Given the description of an element on the screen output the (x, y) to click on. 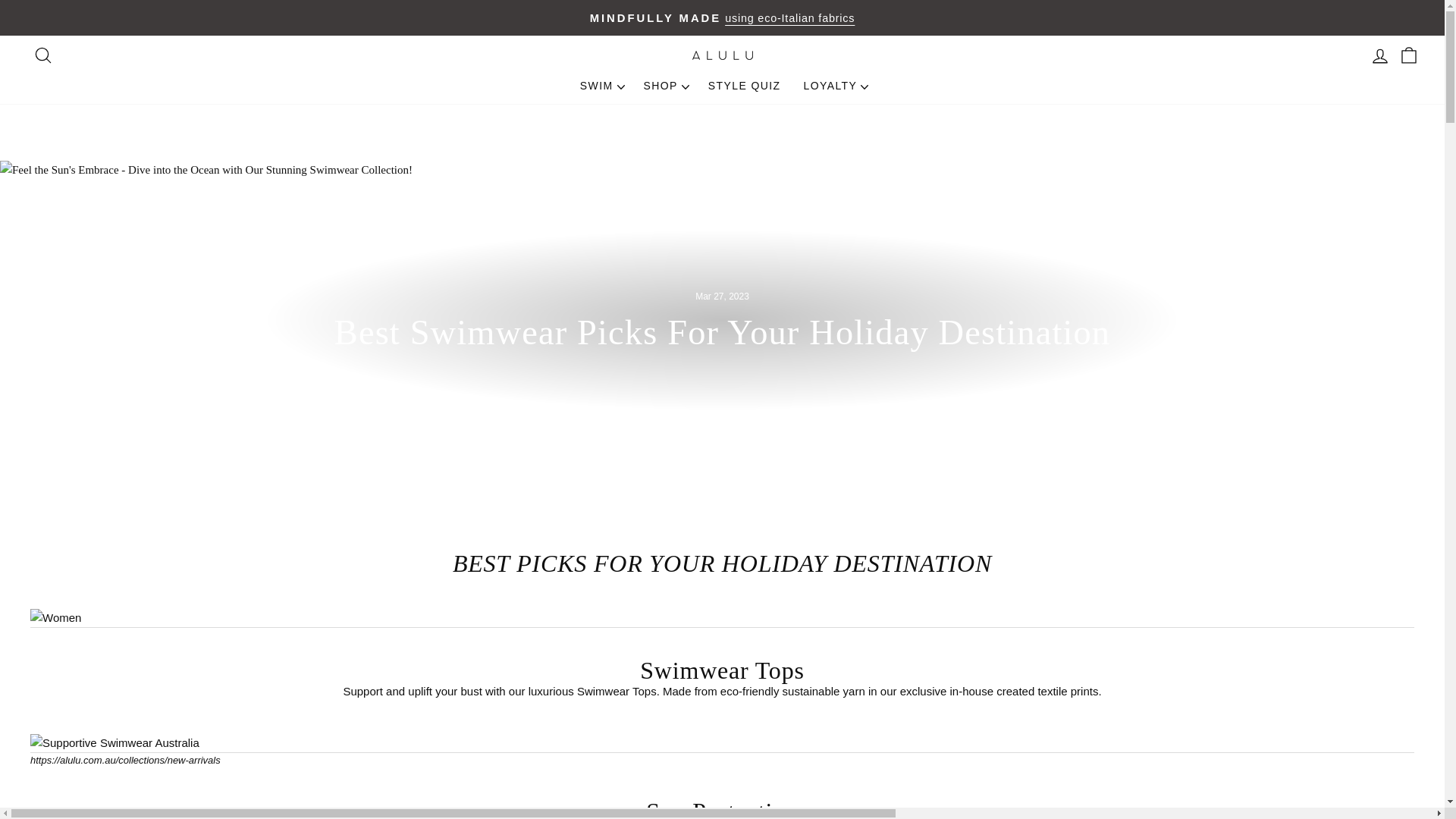
MINDFULLY MADEusing eco-Italian fabrics (721, 17)
